Given the description of an element on the screen output the (x, y) to click on. 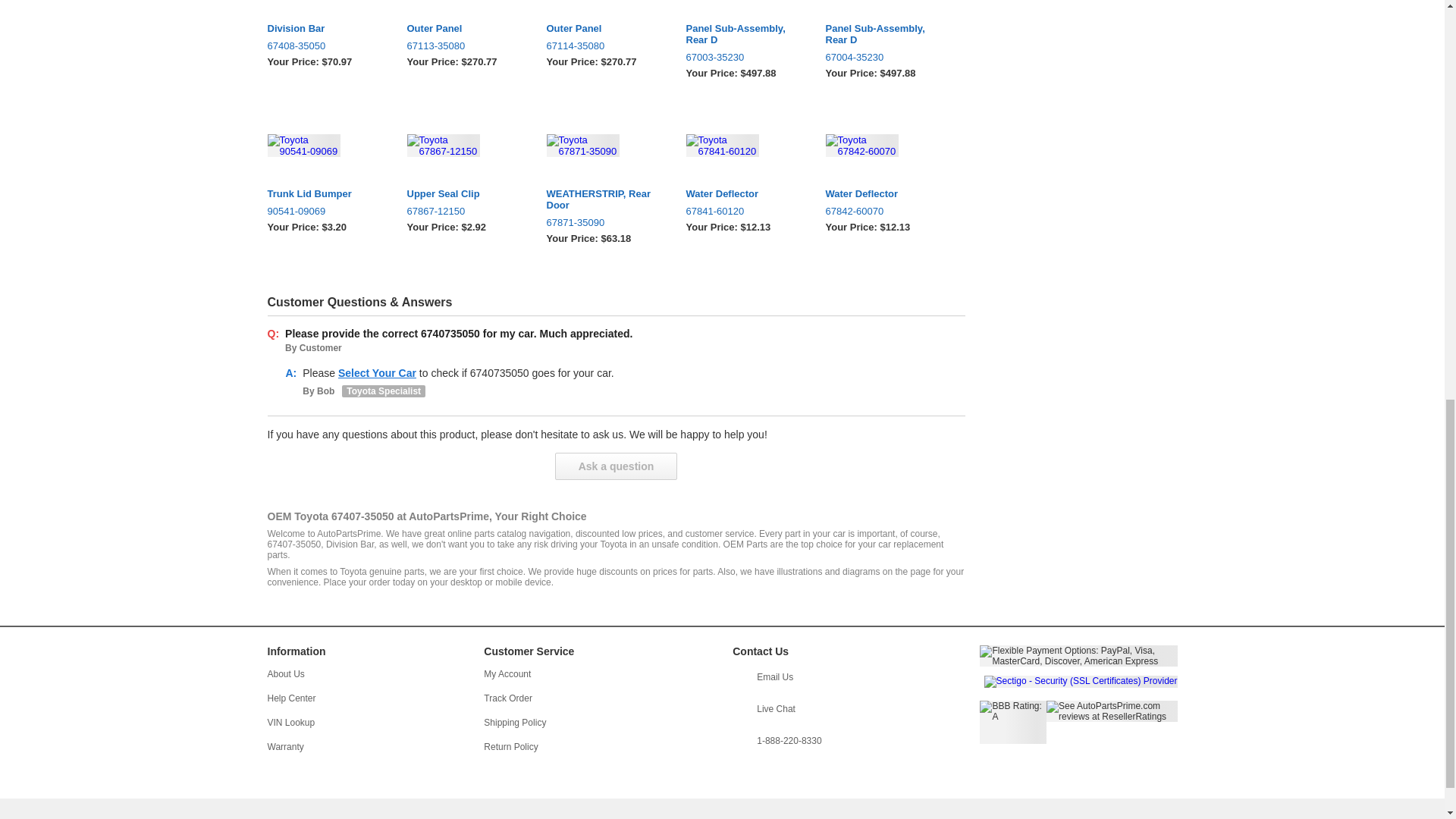
67114-35080 (606, 45)
67113-35080 (466, 45)
67408-35050 (327, 45)
Panel Sub-Assembly, Rear D (885, 33)
Panel Sub-Assembly, Rear D (745, 33)
67867-12150 (466, 211)
Upper Seal Clip (466, 193)
67004-35230 (885, 57)
WEATHERSTRIP, Rear Door (606, 199)
Outer Panel (466, 28)
Trunk Lid Bumper (327, 193)
Division Bar (327, 28)
90541-09069 (327, 211)
67003-35230 (745, 57)
Outer Panel (606, 28)
